Given the description of an element on the screen output the (x, y) to click on. 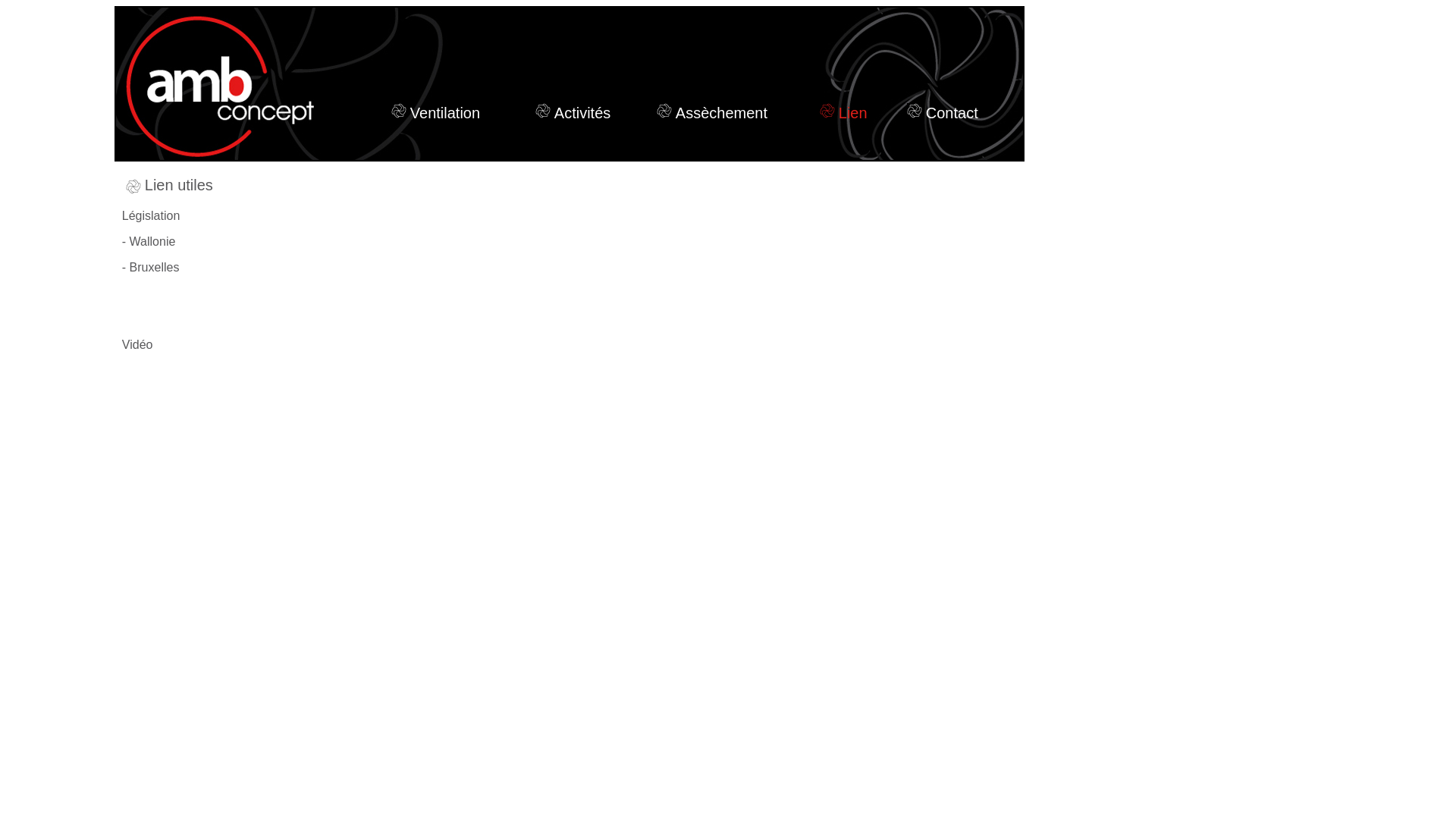
Wallonie Element type: text (152, 241)
Bruxelles Element type: text (154, 266)
Lien Element type: text (841, 112)
Contact Element type: text (940, 112)
Ventilation Element type: text (433, 112)
